Given the description of an element on the screen output the (x, y) to click on. 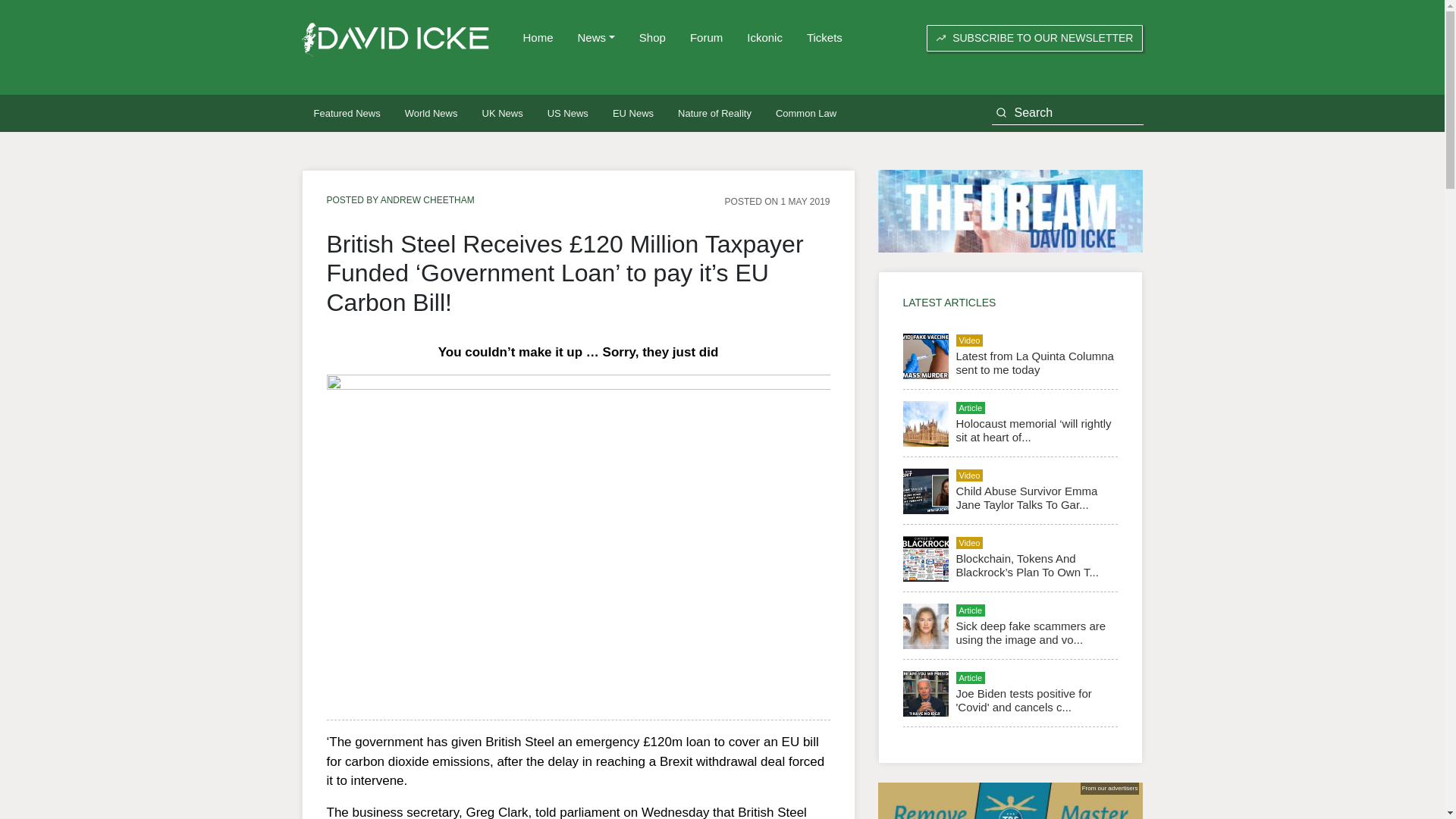
Ickonic (764, 37)
News (596, 37)
Tickets (824, 37)
World News (431, 113)
Forum (706, 37)
Latest from La Quinta Columna sent to me today (1034, 362)
POSTED ON 1 MAY 2019 (777, 200)
US News (567, 113)
Shop (652, 37)
Common Law (805, 113)
Featured News (347, 113)
EU News (632, 113)
Home (538, 37)
